Given the description of an element on the screen output the (x, y) to click on. 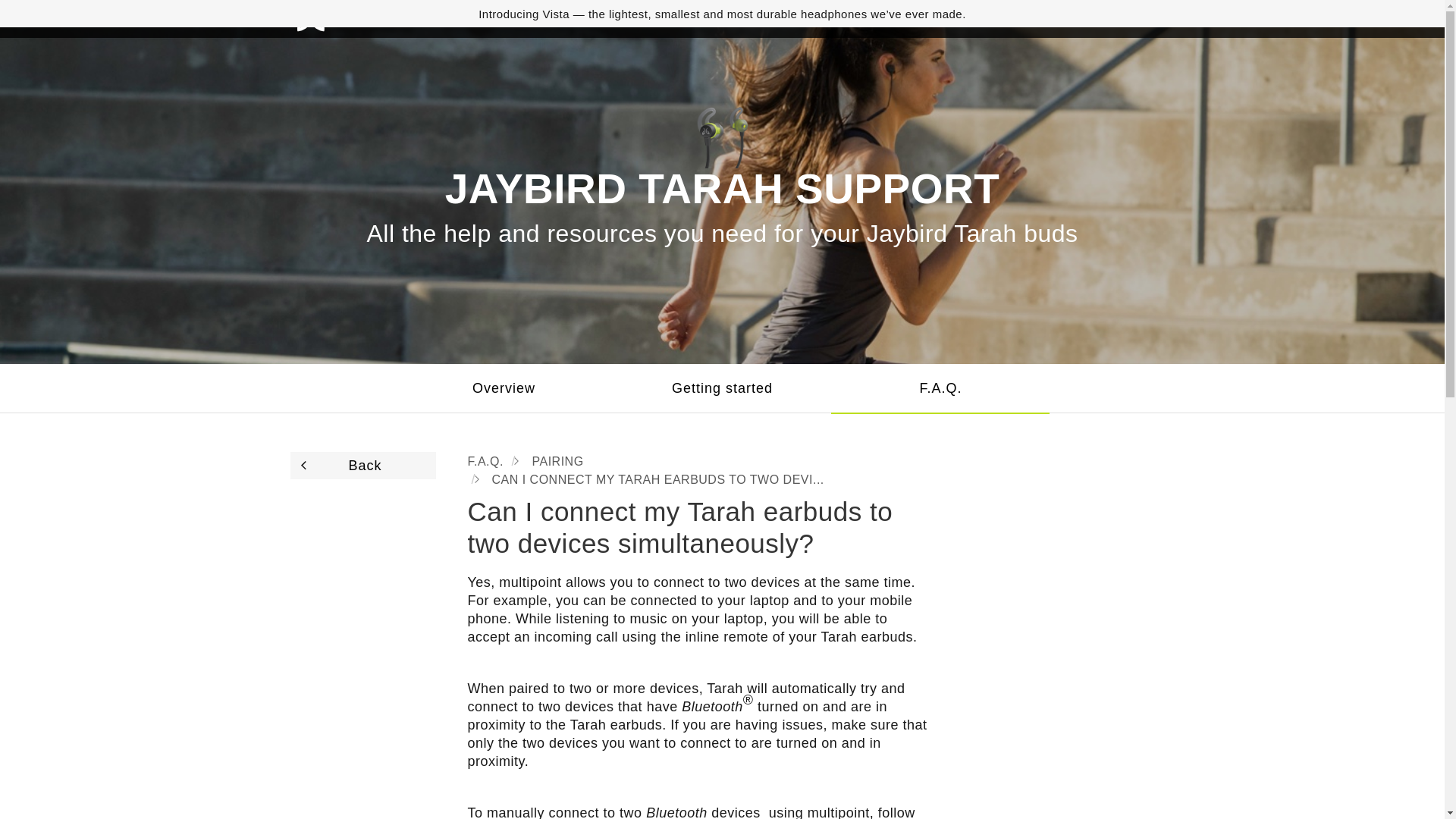
Back (362, 465)
SHOP (427, 18)
F.A.Q. (940, 388)
Getting started (721, 387)
PAIRING (557, 461)
Overview (503, 387)
ATHLETES (598, 18)
SUPPORT (826, 18)
Jaybird Tarah support page (722, 137)
Shop All (1042, 139)
RUN WILD (741, 18)
F.A.Q. (484, 461)
EN (1136, 18)
BLOG (670, 18)
OUR STORY (505, 18)
